Given the description of an element on the screen output the (x, y) to click on. 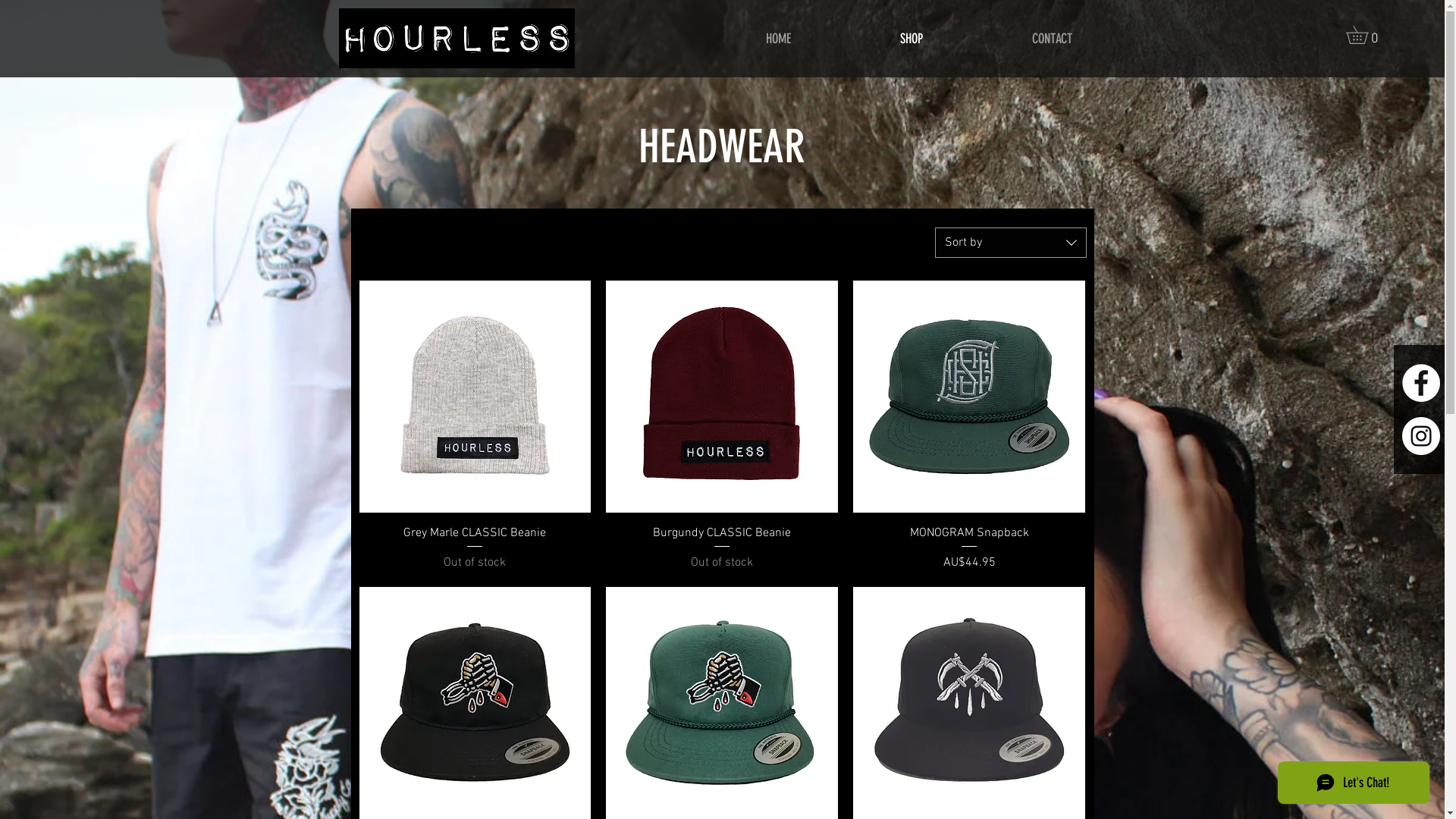
Burgundy CLASSIC Beanie
Out of stock Element type: text (721, 547)
CONTACT Element type: text (1051, 38)
0 Element type: text (1365, 34)
SHOP Element type: text (910, 38)
Sort by Element type: text (1009, 242)
Grey Marle CLASSIC Beanie
Out of stock Element type: text (475, 547)
MONOGRAM Snapback
Price
AU$44.95 Element type: text (969, 547)
HOME Element type: text (778, 38)
